Given the description of an element on the screen output the (x, y) to click on. 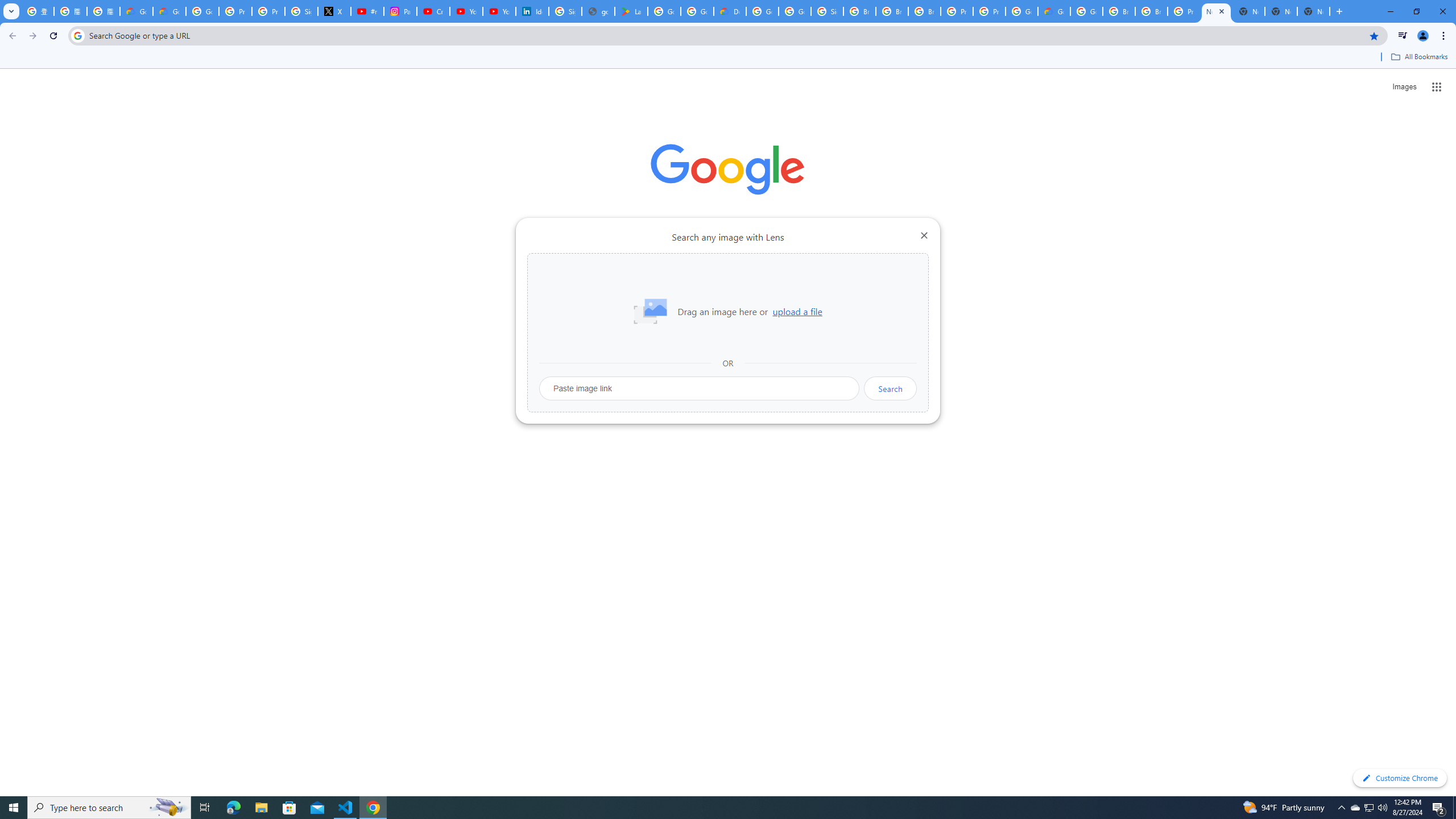
New Tab (1313, 11)
Google Cloud Privacy Notice (169, 11)
YouTube Culture & Trends - YouTube Top 10, 2021 (499, 11)
